Given the description of an element on the screen output the (x, y) to click on. 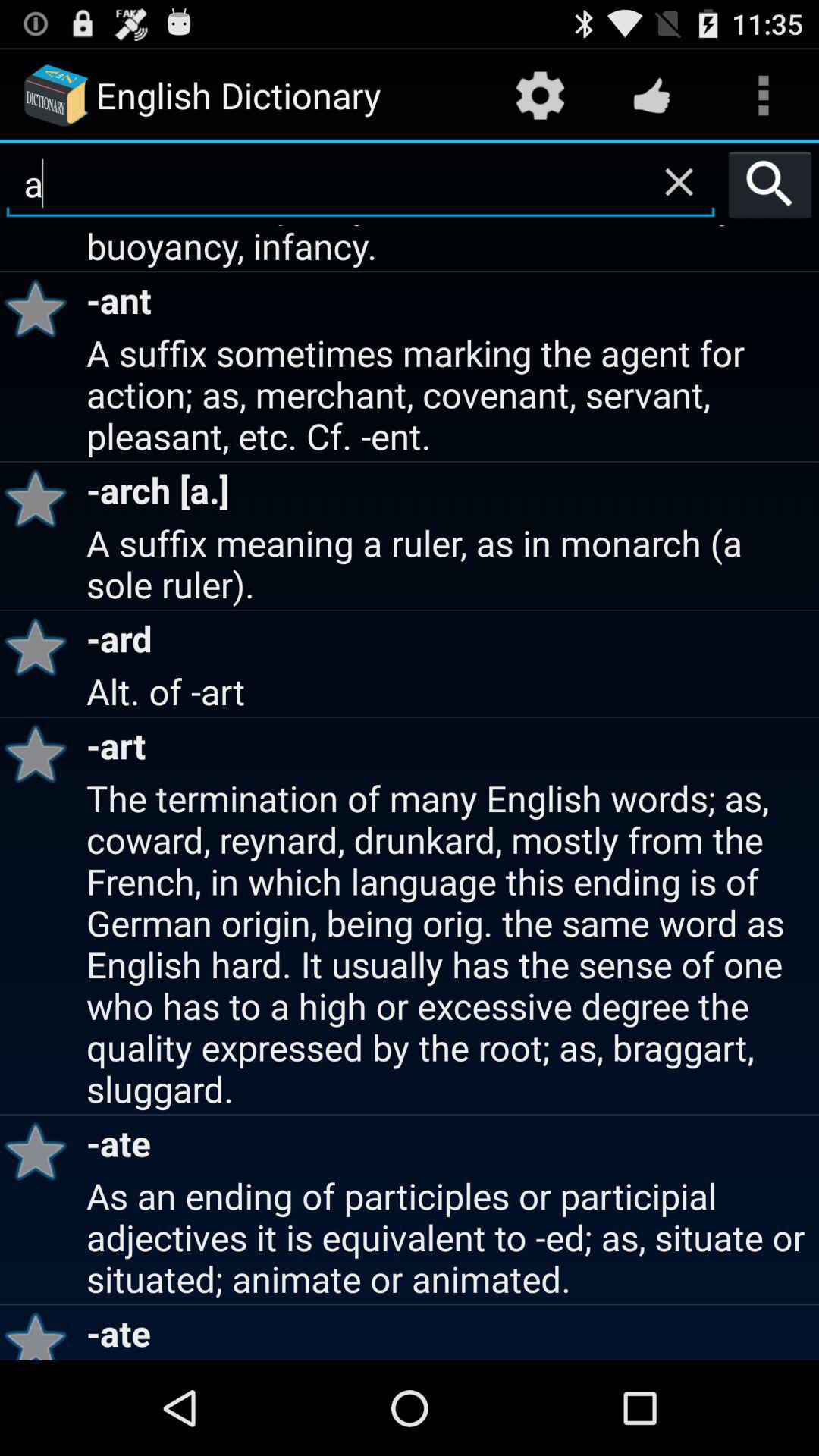
open the app to the right of english dictionary icon (540, 95)
